Given the description of an element on the screen output the (x, y) to click on. 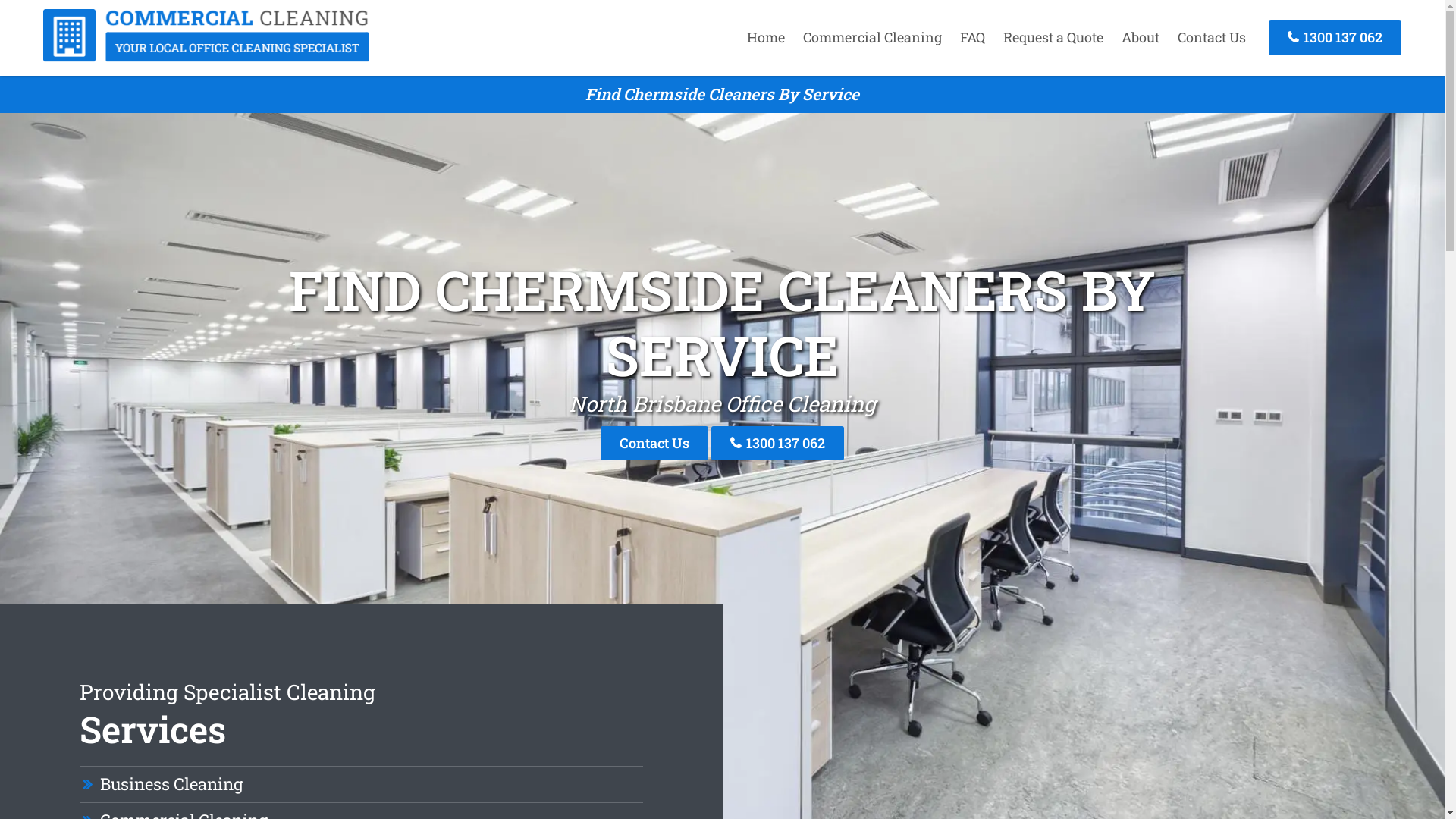
Business Cleaning Element type: text (171, 784)
Contact Us Element type: text (1211, 37)
1300 137 062 Element type: text (1334, 37)
Commercial Cleaning Element type: text (872, 37)
1300 137 062 Element type: text (777, 443)
FAQ Element type: text (972, 37)
Request a Quote Element type: text (1052, 37)
Contact Us Element type: text (654, 443)
Home Element type: text (765, 37)
Commercial Cleaning Element type: hover (206, 56)
About Element type: text (1140, 37)
